Given the description of an element on the screen output the (x, y) to click on. 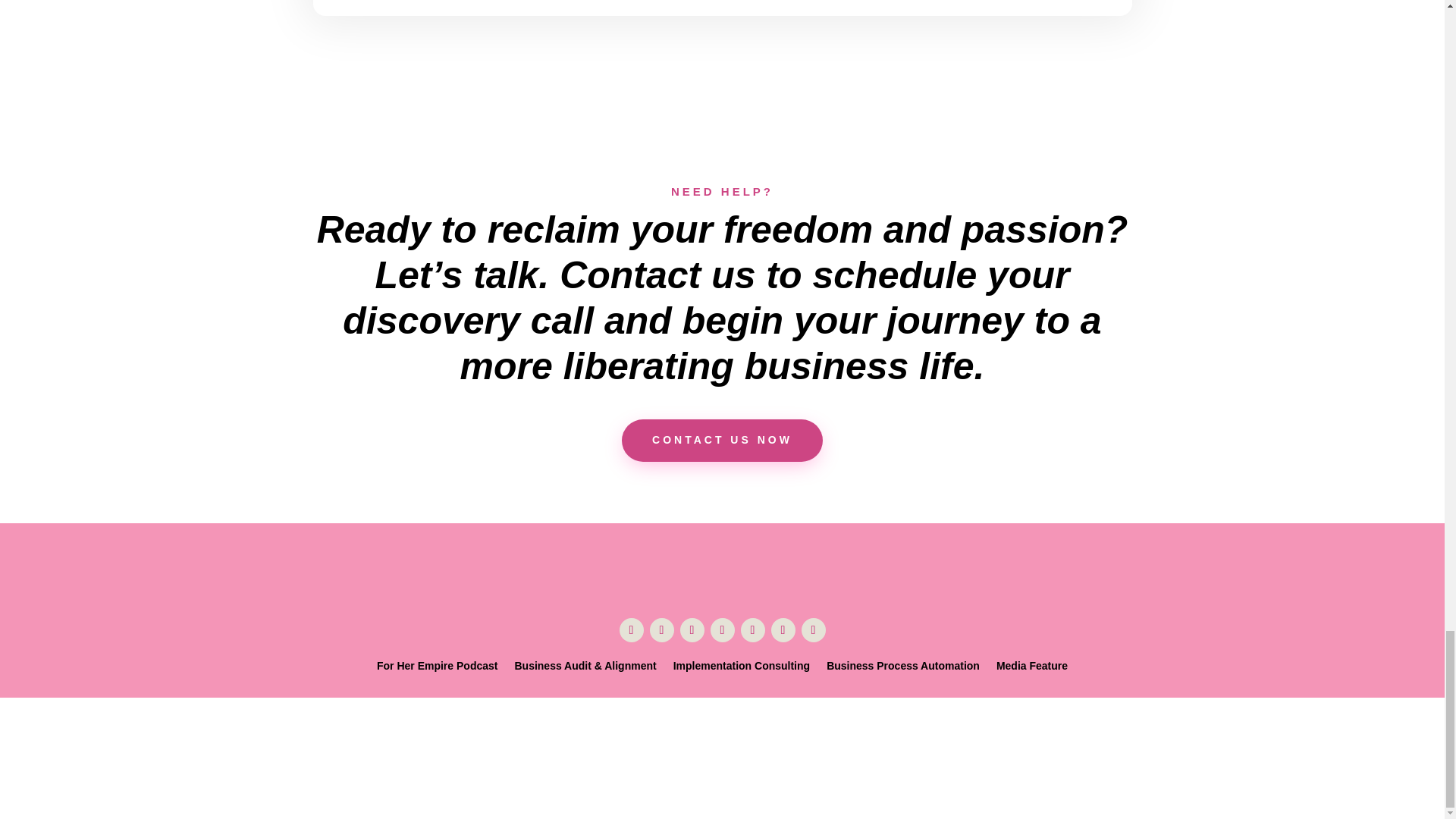
Follow on X (660, 630)
Follow on Pinterest (721, 630)
Follow on RSS (751, 630)
Follow on LinkedIn (812, 630)
Follow on Facebook (630, 630)
Follow on Instagram (691, 630)
Follow on Facebook (782, 630)
